Given the description of an element on the screen output the (x, y) to click on. 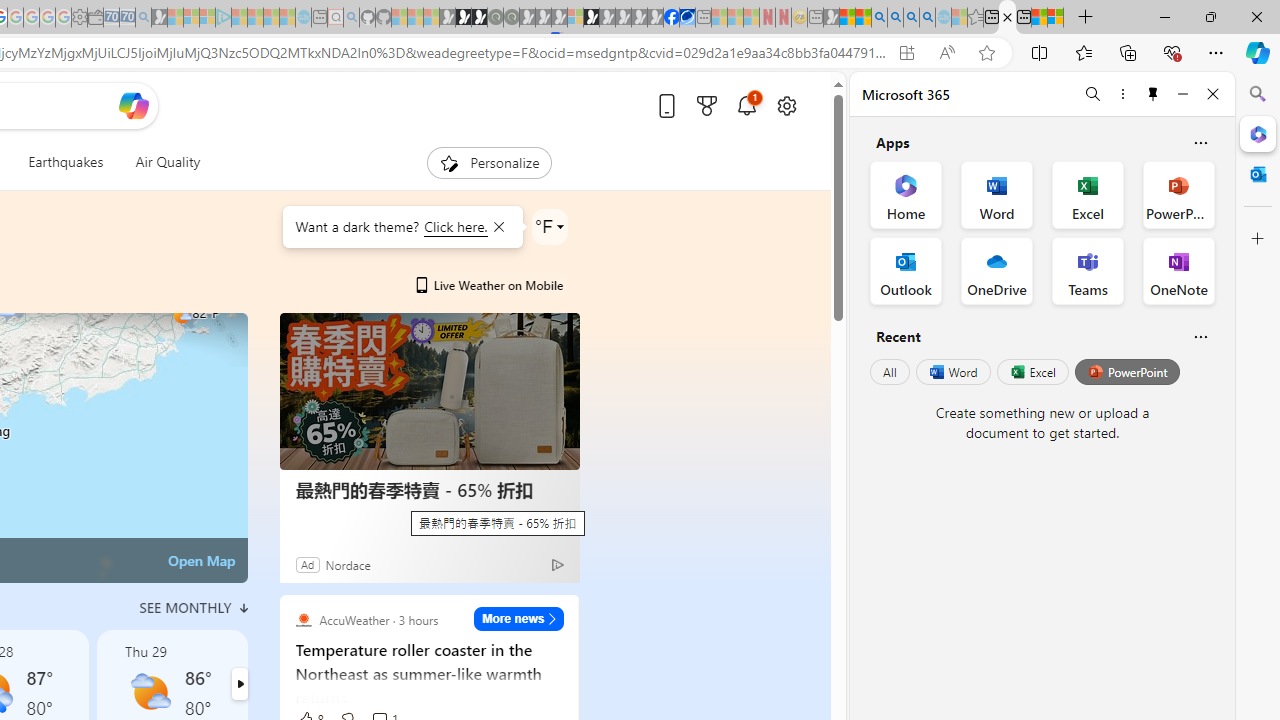
Wallet - Sleeping (95, 17)
Settings - Sleeping (79, 17)
OneDrive Office App (996, 270)
Aberdeen, Hong Kong SAR weather forecast | Microsoft Weather (1007, 17)
Weather settings Want a dark theme?Click here. (549, 226)
